Given the description of an element on the screen output the (x, y) to click on. 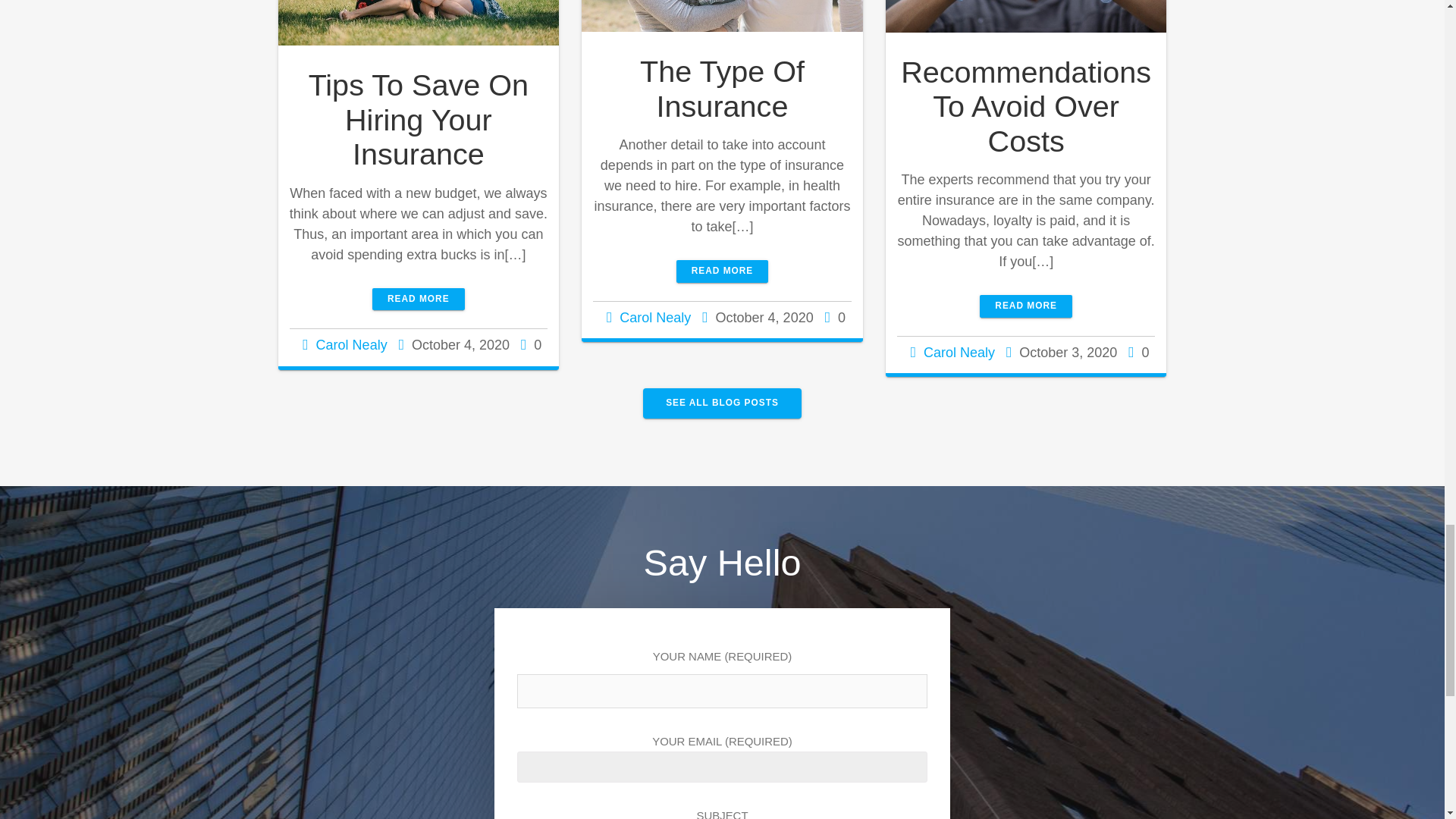
The Type Of Insurance (722, 88)
SEE ALL BLOG POSTS (722, 402)
READ MORE (1025, 305)
Carol Nealy (351, 344)
Posts by Carol Nealy (351, 344)
Recommendations To Avoid Over Costs (1026, 106)
Tips To Save On Hiring Your Insurance (418, 118)
Posts by Carol Nealy (958, 352)
READ MORE (418, 299)
Carol Nealy (655, 317)
